Given the description of an element on the screen output the (x, y) to click on. 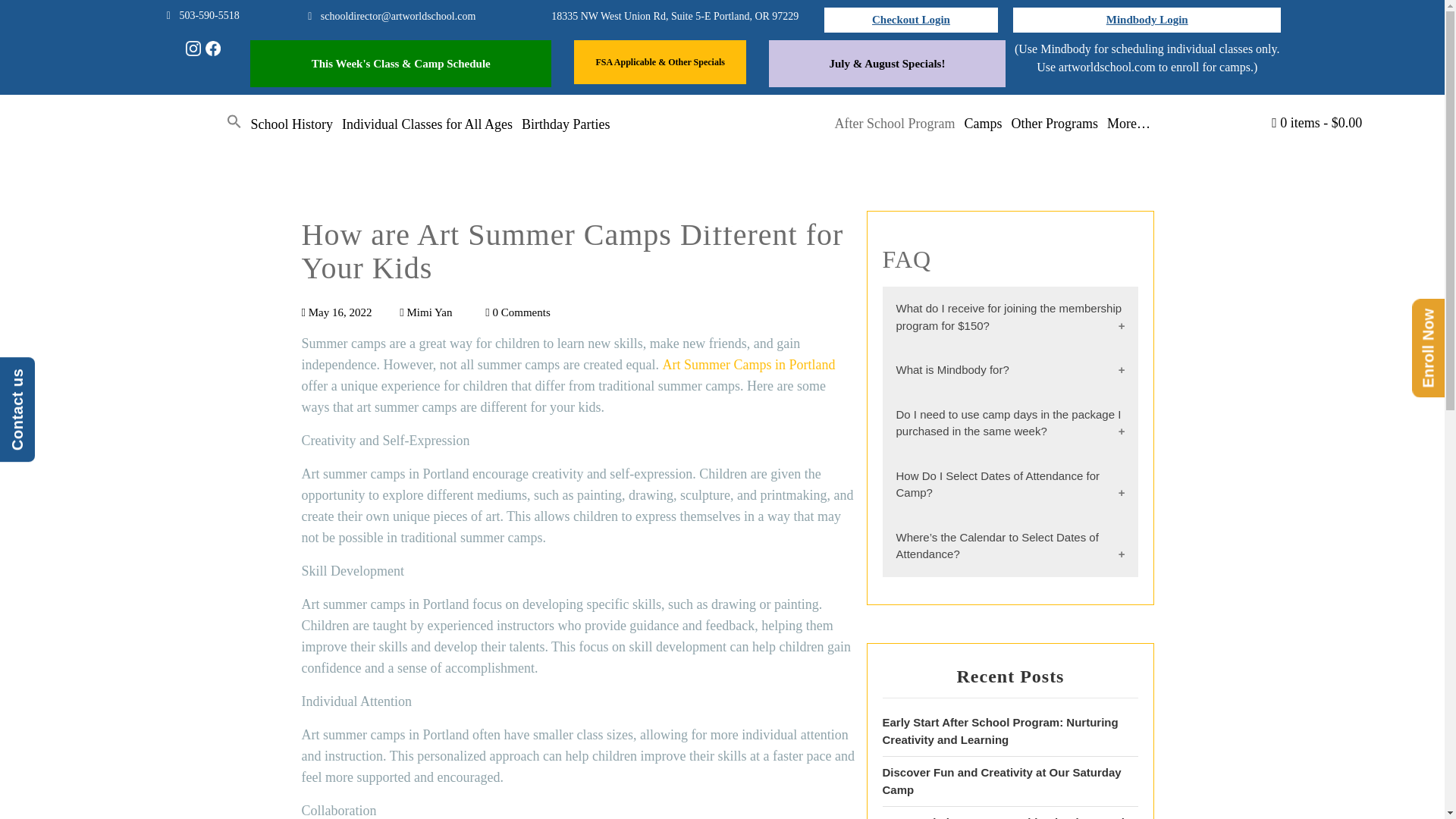
Start shopping (1316, 123)
Checkout Login (910, 19)
School History (291, 124)
Individual Classes for All Ages (427, 124)
Mindbody Login (1147, 19)
